Given the description of an element on the screen output the (x, y) to click on. 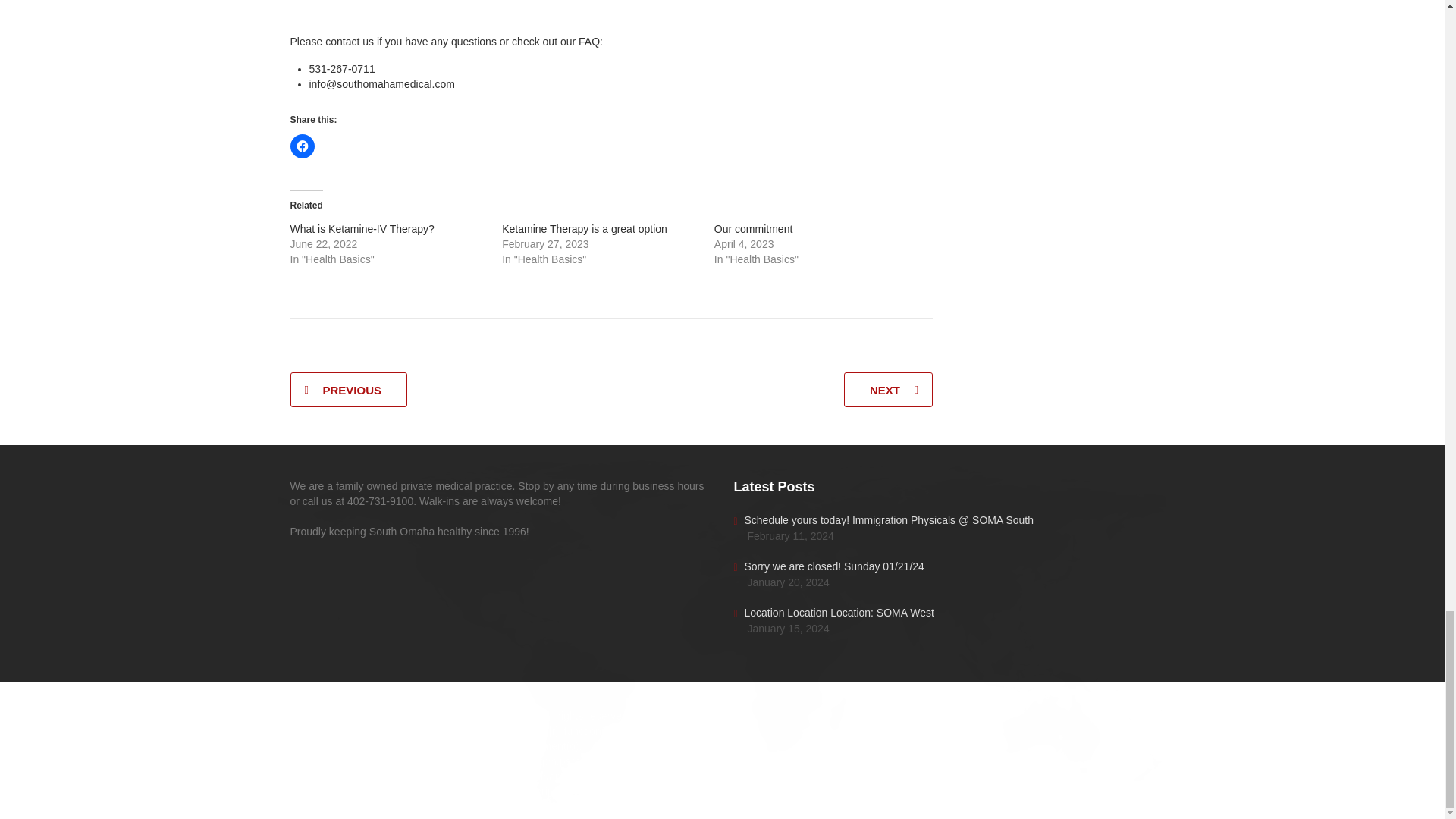
Click to share on Facebook (301, 146)
What is Ketamine-IV Therapy? (361, 228)
Our commitment (753, 228)
Ketamine Therapy is a great option (584, 228)
